Given the description of an element on the screen output the (x, y) to click on. 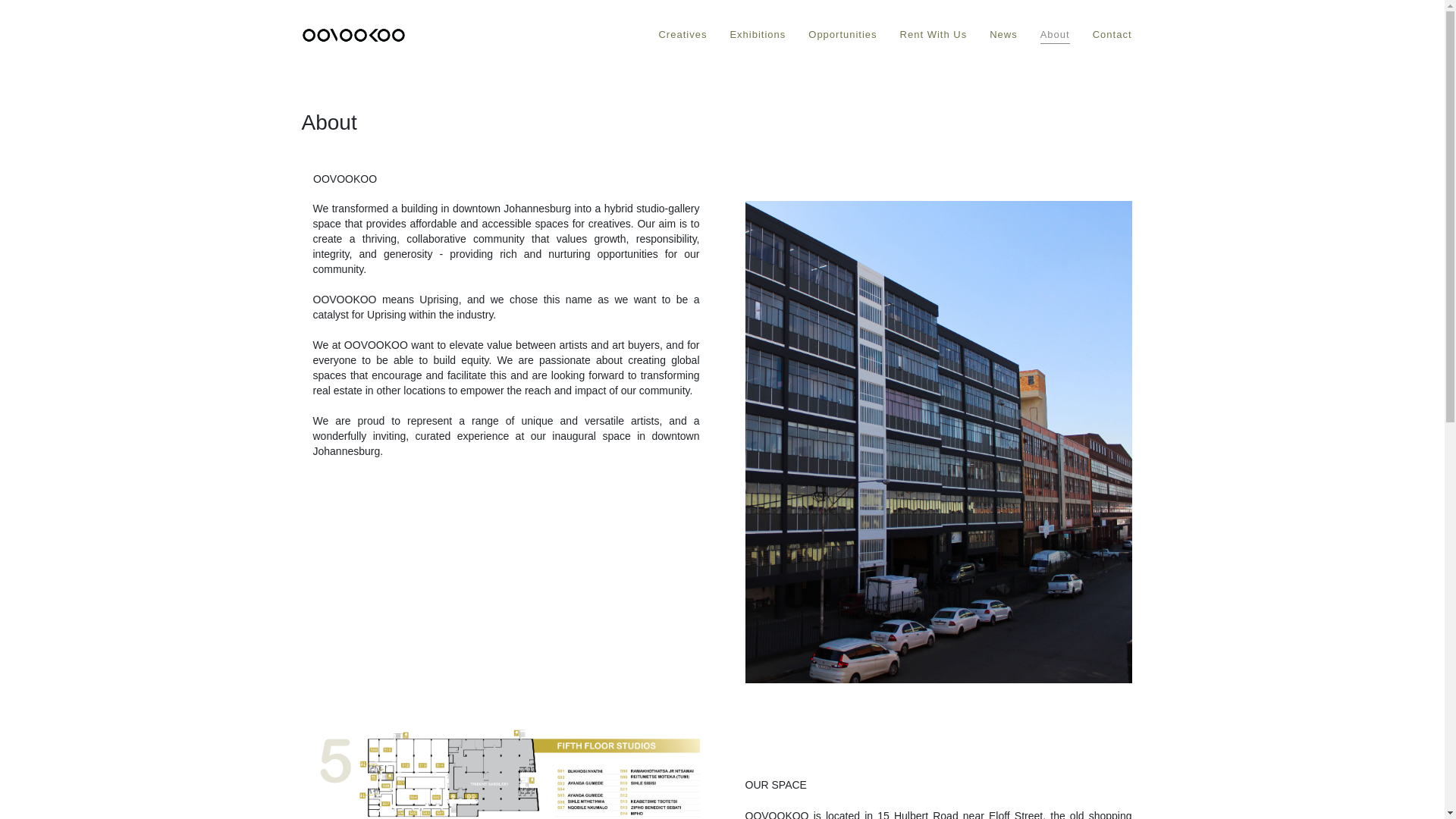
Opportunities (842, 34)
OOVOOKOO (353, 35)
Contact (1112, 34)
About (1055, 35)
Creatives (682, 34)
News (1003, 34)
Exhibitions (757, 34)
Rent With Us (933, 34)
